Given the description of an element on the screen output the (x, y) to click on. 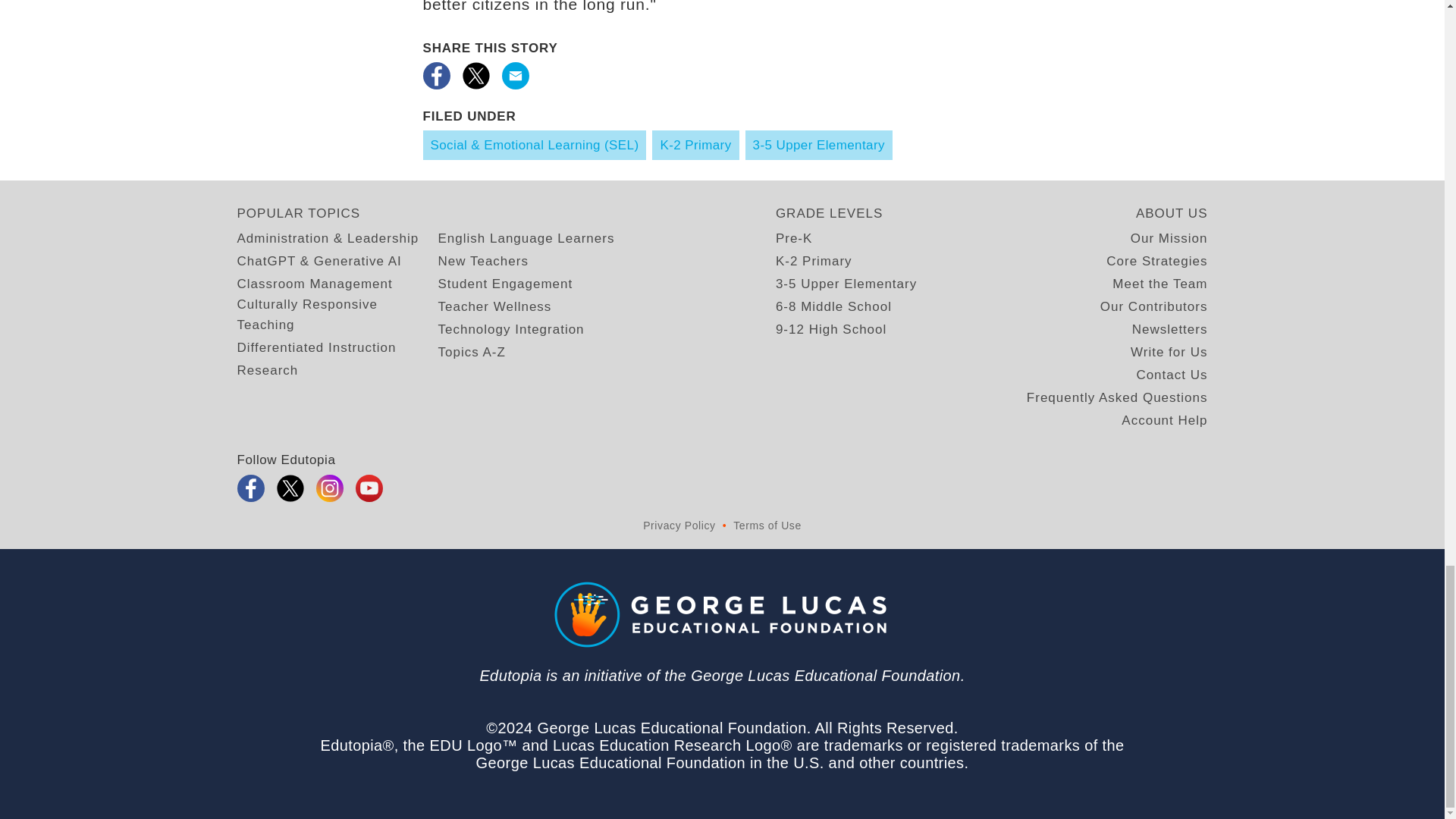
English Language Learners (526, 238)
3-5 Upper Elementary (818, 144)
K-2 Primary (695, 144)
Culturally Responsive Teaching (336, 314)
Research (266, 370)
Student Engagement (505, 283)
Classroom Management (313, 283)
Differentiated Instruction (315, 347)
New Teachers (483, 260)
